Given the description of an element on the screen output the (x, y) to click on. 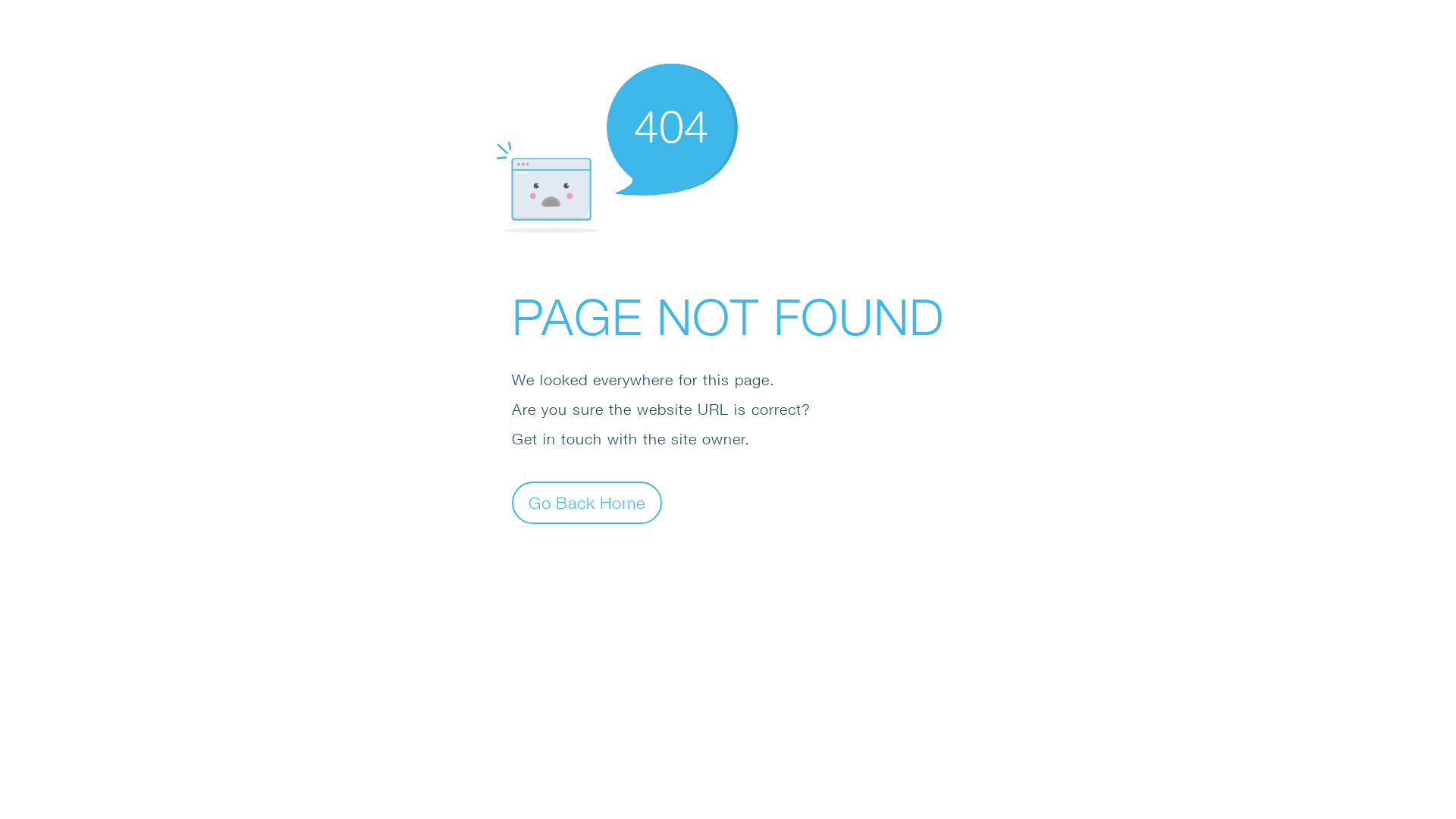
Go Back Home Element type: text (586, 502)
